Given the description of an element on the screen output the (x, y) to click on. 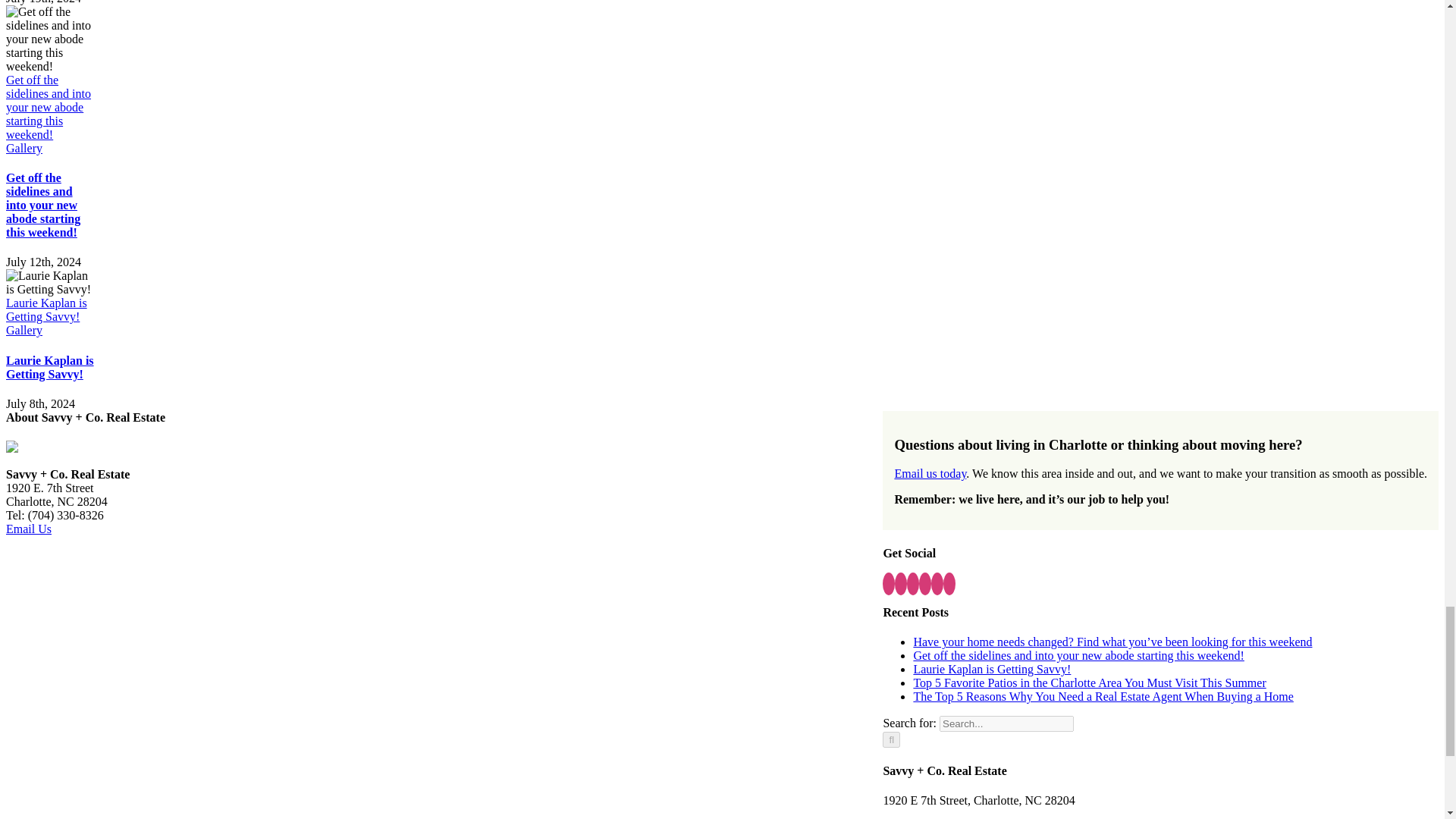
Laurie Kaplan is Getting Savvy! (49, 366)
